Given the description of an element on the screen output the (x, y) to click on. 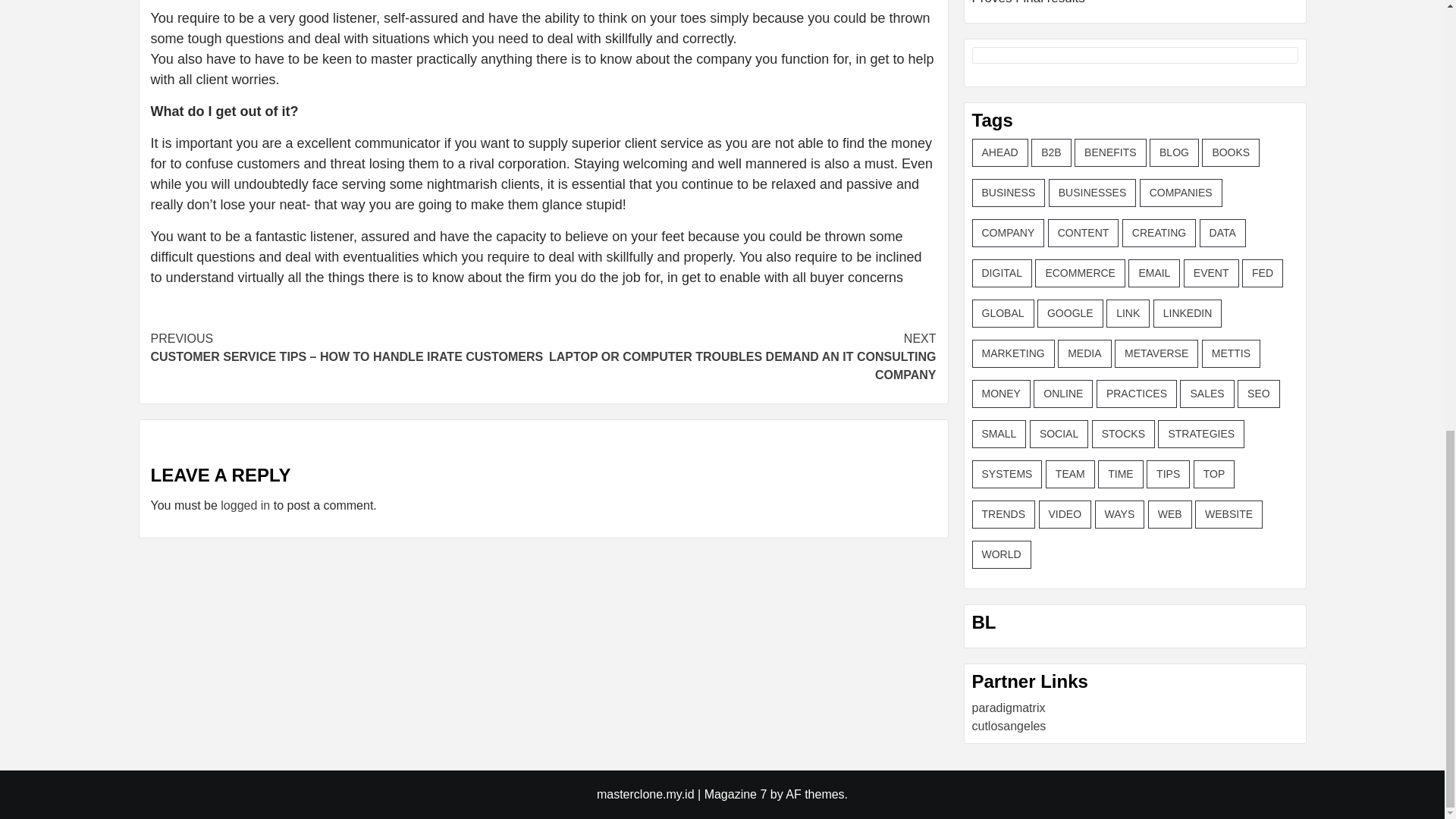
logged in (245, 504)
